Given the description of an element on the screen output the (x, y) to click on. 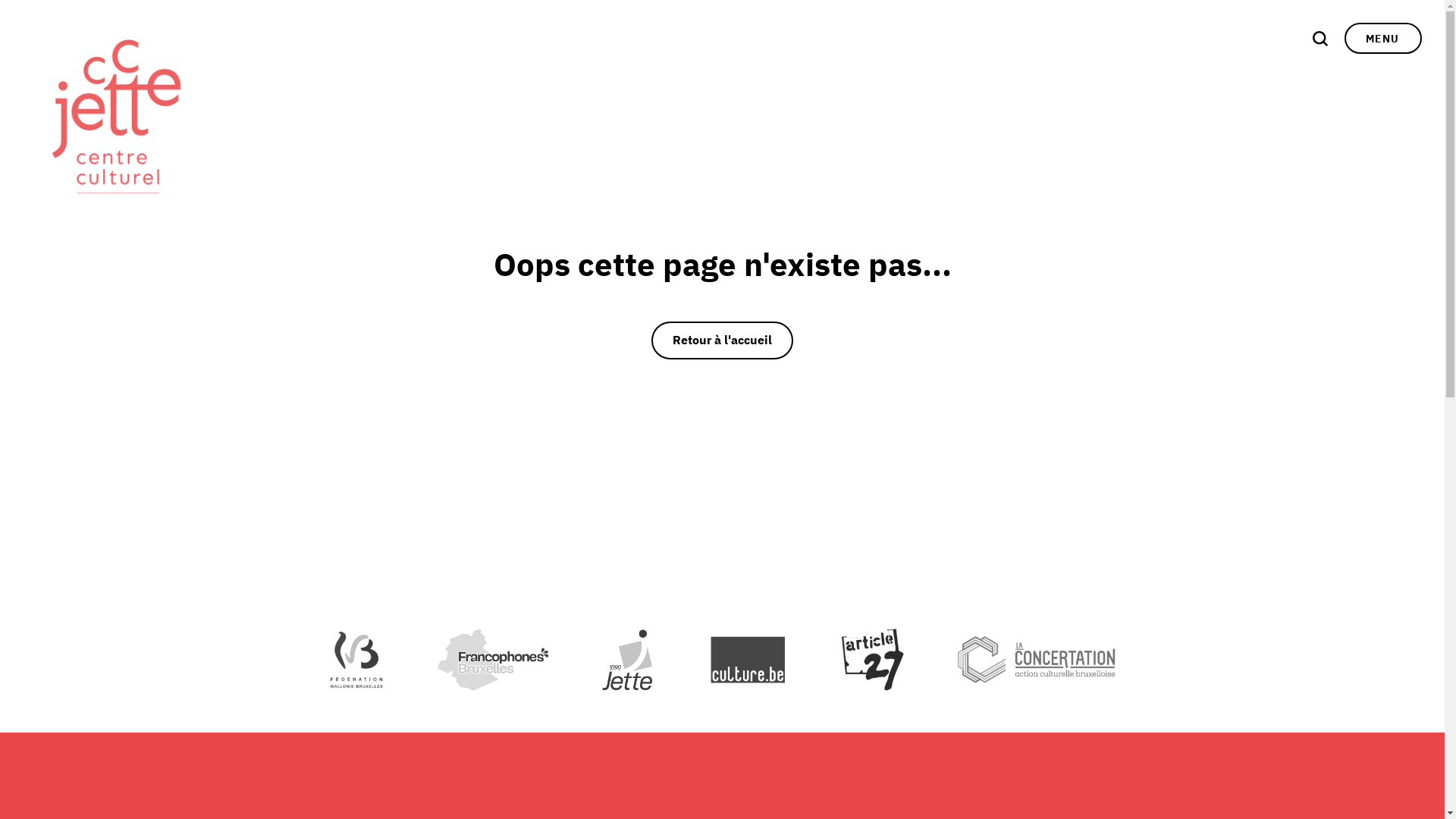
MENU Element type: text (1382, 37)
